Given the description of an element on the screen output the (x, y) to click on. 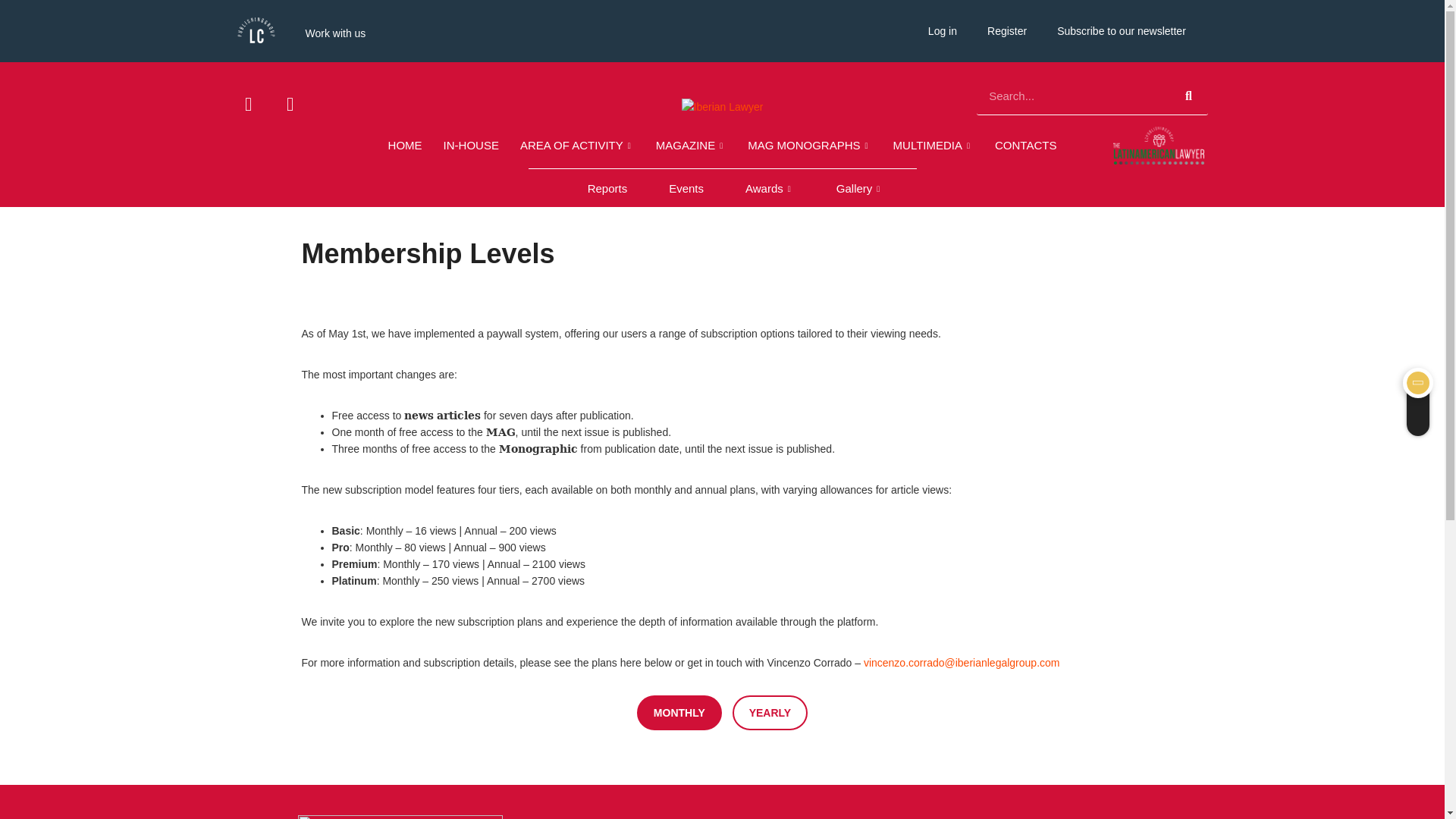
HOME (404, 145)
Register (1007, 30)
Work with us (334, 33)
Subscribe to our newsletter (1121, 30)
Log in (942, 30)
